Given the description of an element on the screen output the (x, y) to click on. 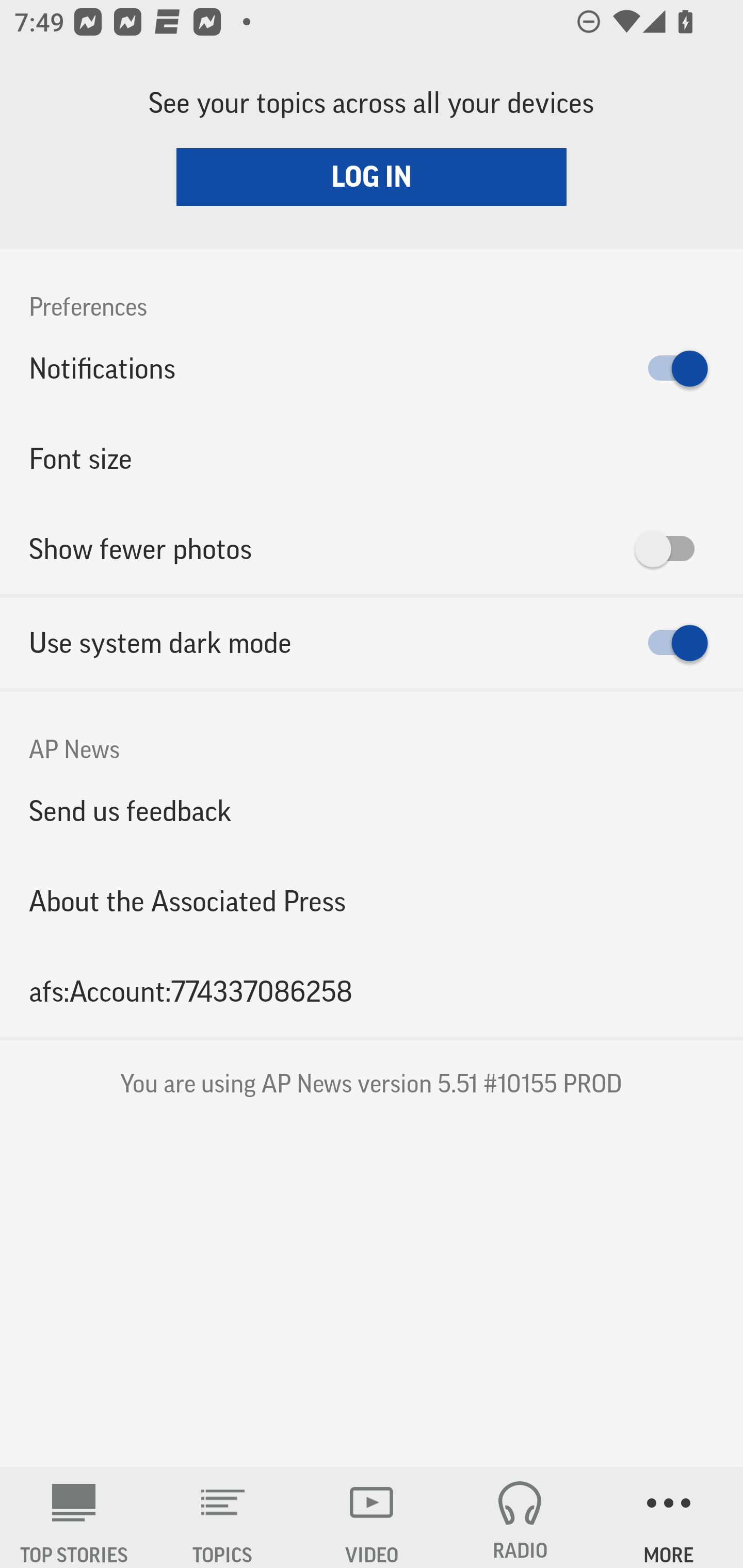
LOG IN (371, 176)
Notifications (371, 368)
Font size (371, 458)
Show fewer photos (371, 548)
Use system dark mode (371, 642)
Send us feedback (371, 810)
About the Associated Press (371, 901)
afs:Account:774337086258 (371, 991)
AP News TOP STORIES (74, 1517)
TOPICS (222, 1517)
VIDEO (371, 1517)
RADIO (519, 1517)
MORE (668, 1517)
